Given the description of an element on the screen output the (x, y) to click on. 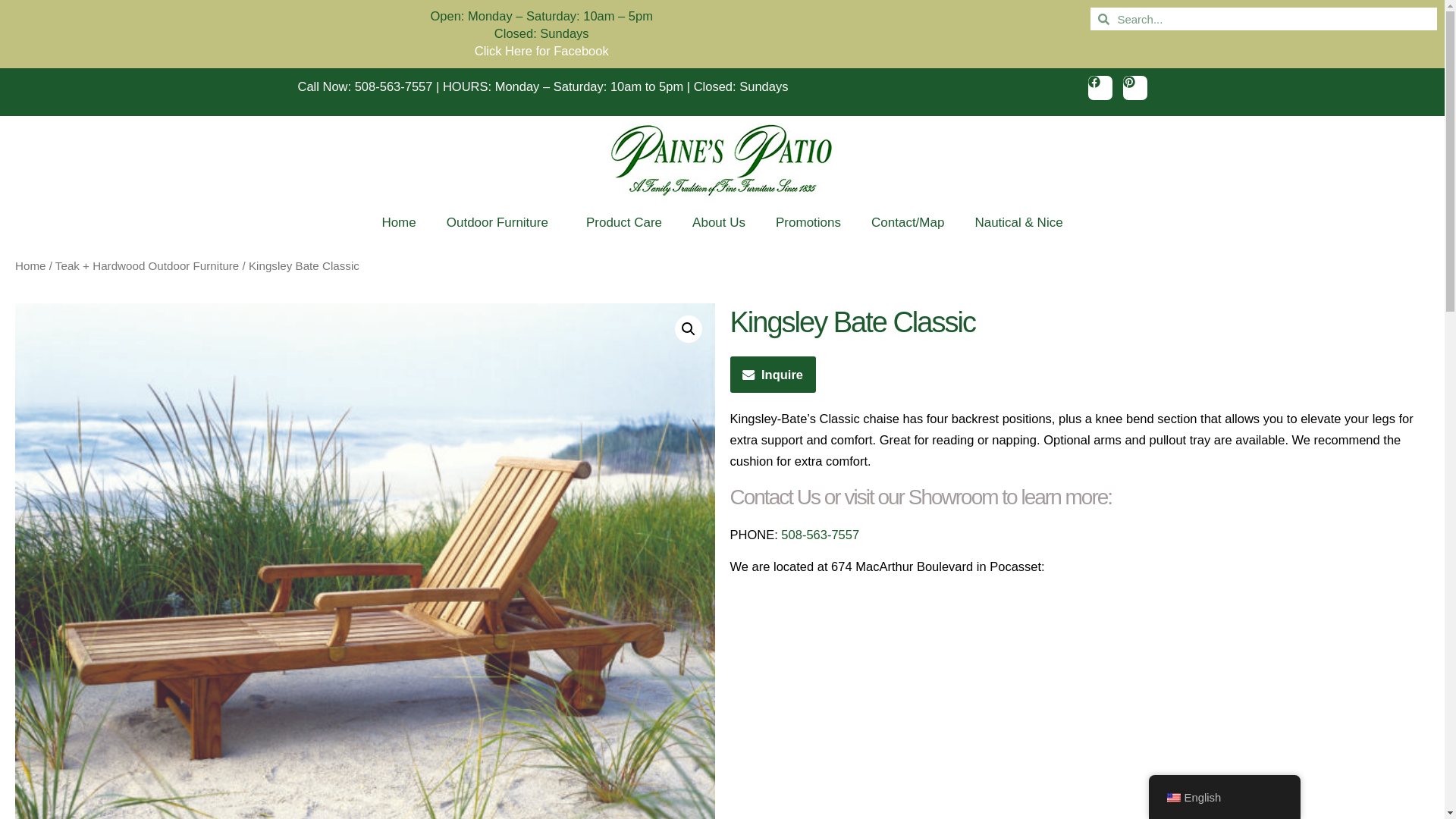
Product Care (623, 222)
Home (29, 265)
Click Here for Facebook (541, 50)
Outdoor Furniture (500, 222)
Home (398, 222)
508-563-7557 (393, 86)
About Us (718, 222)
Promotions (808, 222)
English (1172, 797)
